Given the description of an element on the screen output the (x, y) to click on. 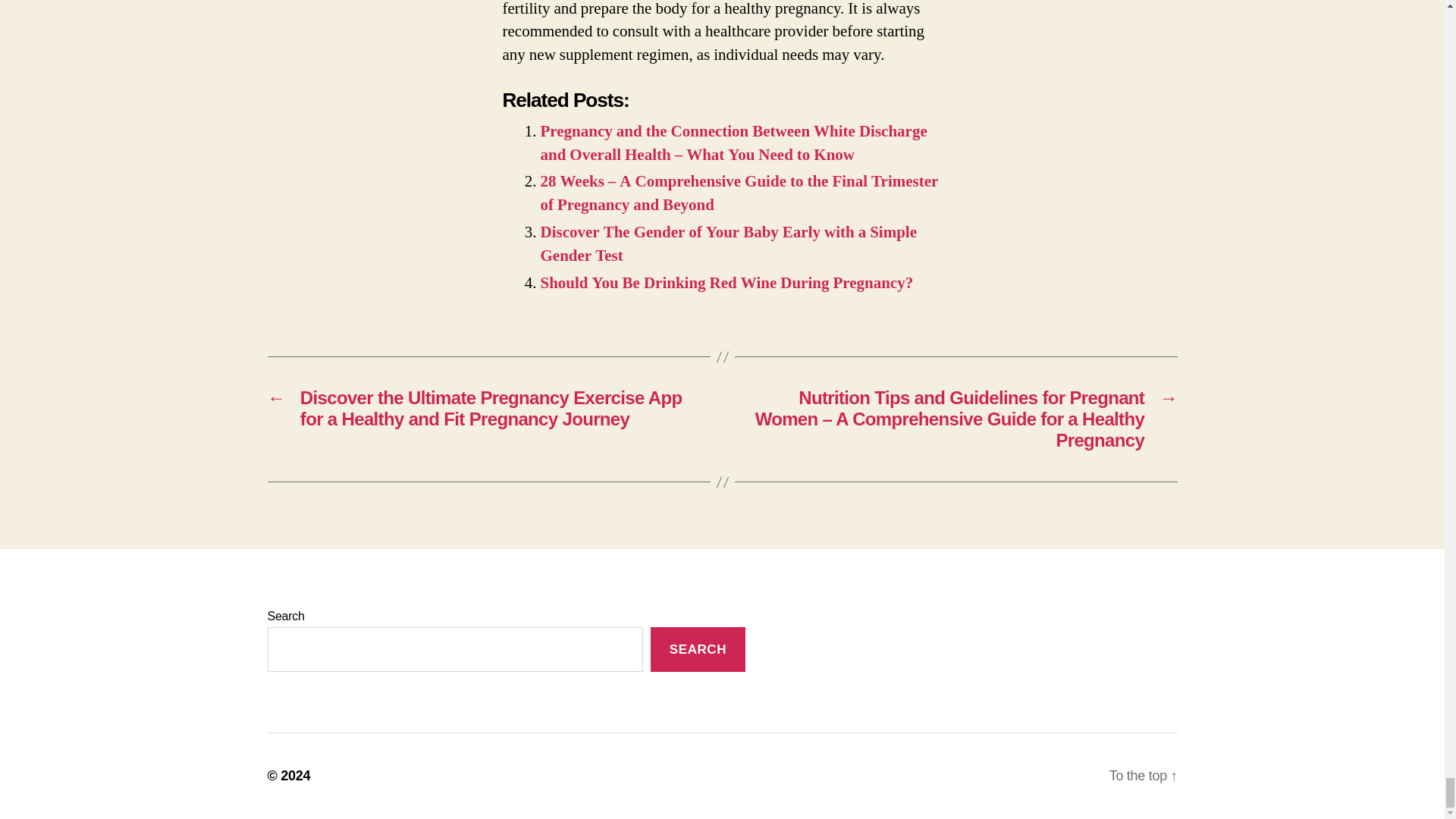
Should You Be Drinking Red Wine During Pregnancy? (726, 282)
SEARCH (697, 649)
Should You Be Drinking Red Wine During Pregnancy? (726, 282)
